Given the description of an element on the screen output the (x, y) to click on. 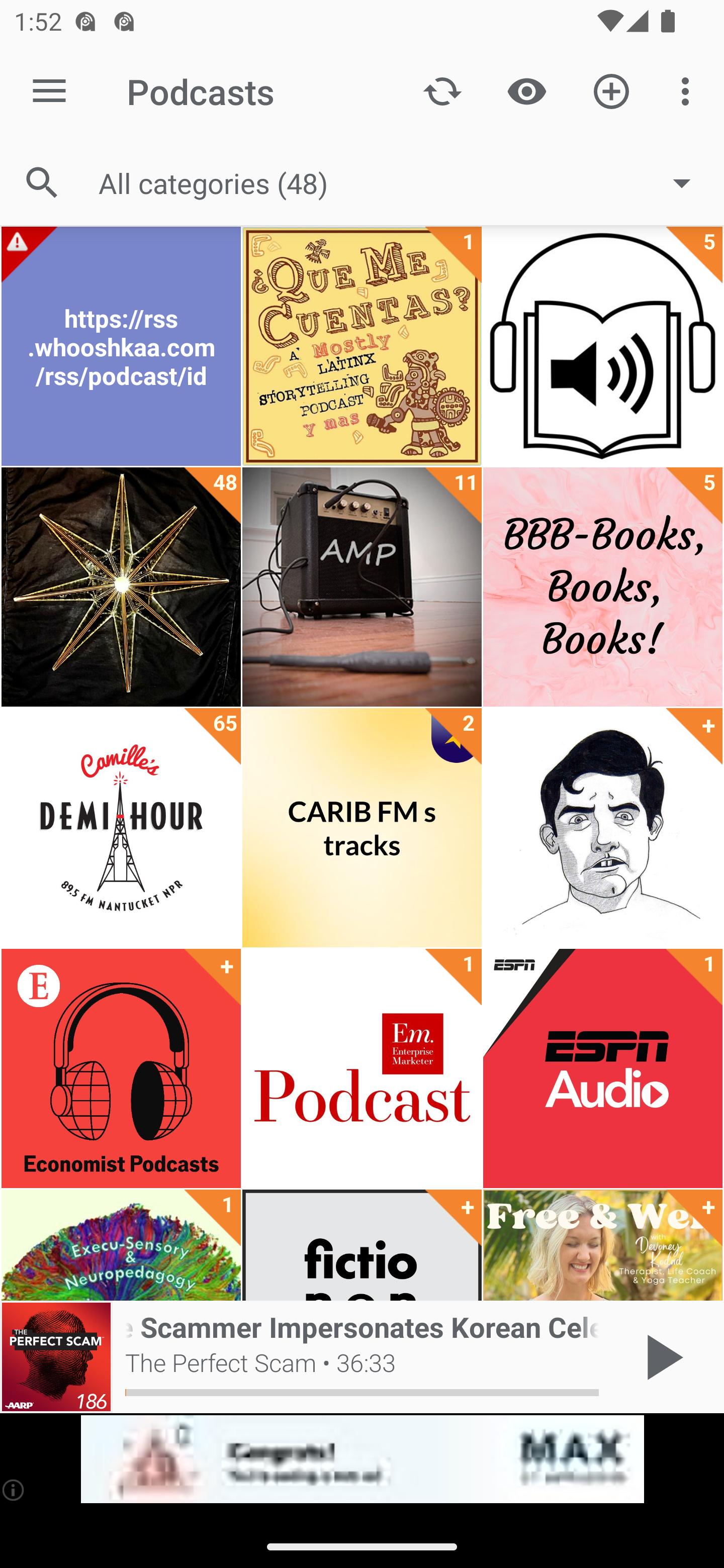
Open navigation sidebar (49, 91)
Update (442, 90)
Show / Hide played content (526, 90)
Add new Podcast (611, 90)
More options (688, 90)
Search (42, 183)
All categories (48) (404, 182)
https://rss.whooshkaa.com/rss/podcast/id/5884 (121, 346)
¿Qué Me Cuentas?: Latinx Storytelling 1 (361, 346)
Audiobooks 5 (602, 346)
Audiobooks 48 (121, 587)
Australian Music Podcasts 11 (361, 587)
BBB-Books, Books, Books! 5 (602, 587)
Camille's Demi-Hour - NANTUCKET NPR 65 (121, 827)
CARIB FM's tracks 2 (361, 827)
Cooking Issues with Dave Arnold + (602, 827)
Economist Podcasts + (121, 1068)
Enterprise Marketer Podcast - Conference 1 (361, 1068)
ESPN Audio 1 (602, 1068)
Play / Pause (660, 1356)
app-monetization (362, 1459)
(i) (14, 1489)
